Given the description of an element on the screen output the (x, y) to click on. 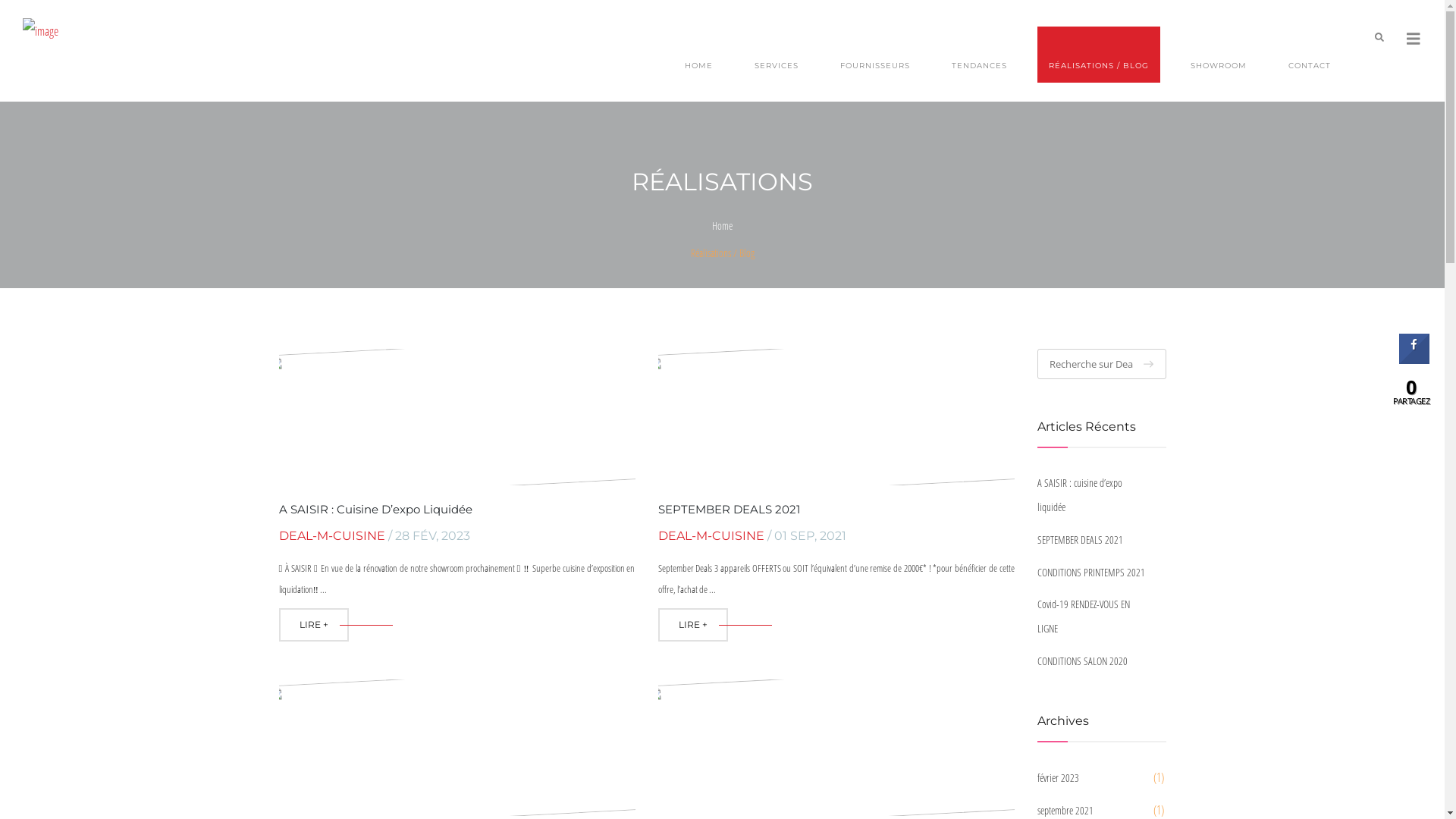
Covid-19 RENDEZ-VOUS EN LIGNE Element type: text (1094, 616)
FOURNISSEURS Element type: text (874, 54)
CONTACT Element type: text (1309, 54)
DEAL-M-CUISINE Element type: text (711, 535)
SEPTEMBER DEALS 2021 Element type: text (1094, 539)
LIRE + Element type: text (313, 624)
TENDANCES Element type: text (979, 54)
DEAL-M-CUISINE Element type: text (332, 535)
SEPTEMBER DEALS 2021 Element type: text (729, 509)
Home Element type: text (722, 225)
Share on Facebook Element type: hover (1414, 359)
CONDITIONS SALON 2020 Element type: text (1094, 661)
HOME Element type: text (698, 54)
LIRE + Element type: text (693, 624)
SERVICES Element type: text (776, 54)
SHOWROOM Element type: text (1218, 54)
CONDITIONS PRINTEMPS 2021 Element type: text (1094, 572)
